Given the description of an element on the screen output the (x, y) to click on. 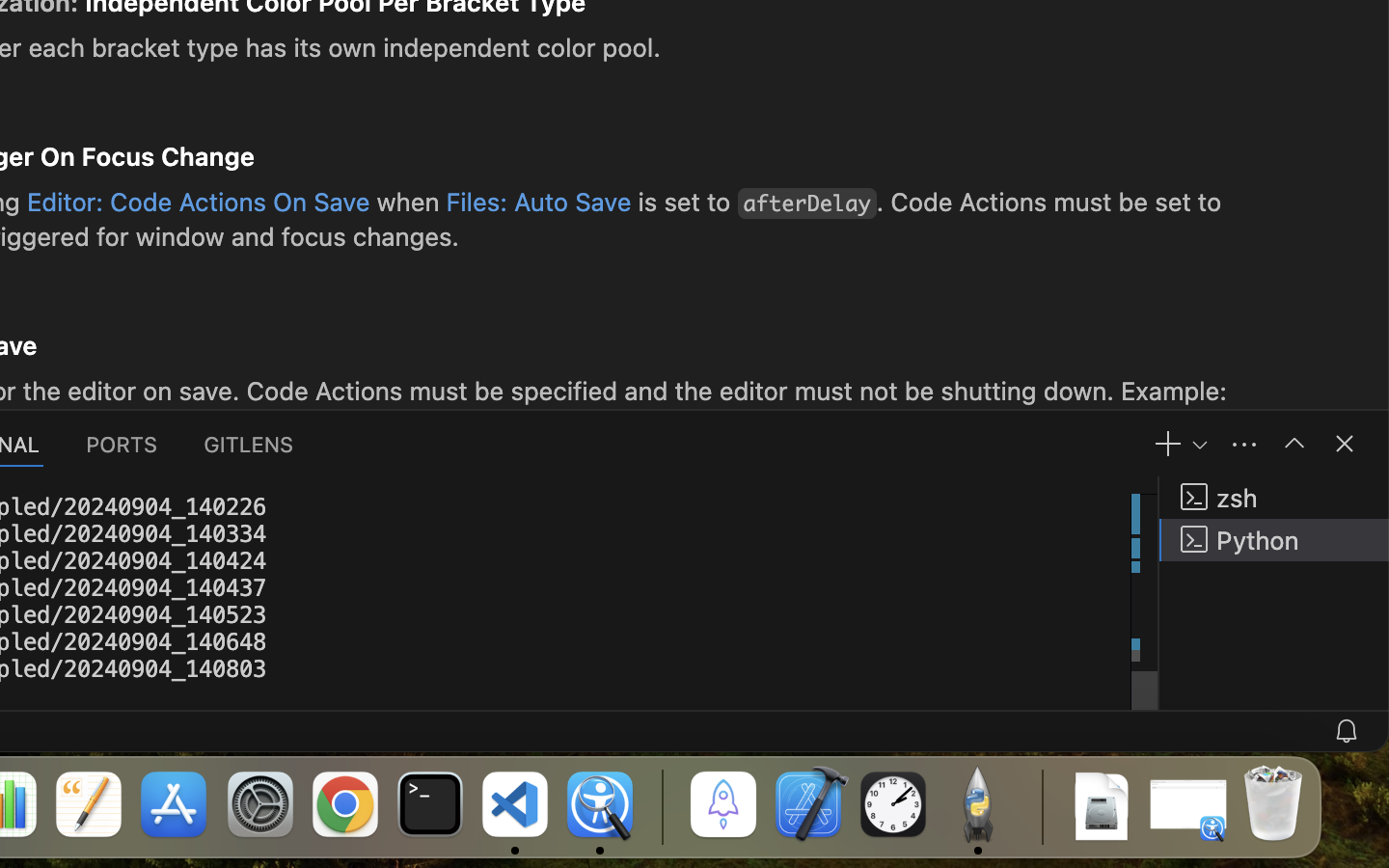
is set to Element type: AXStaticText (684, 201)
